Given the description of an element on the screen output the (x, y) to click on. 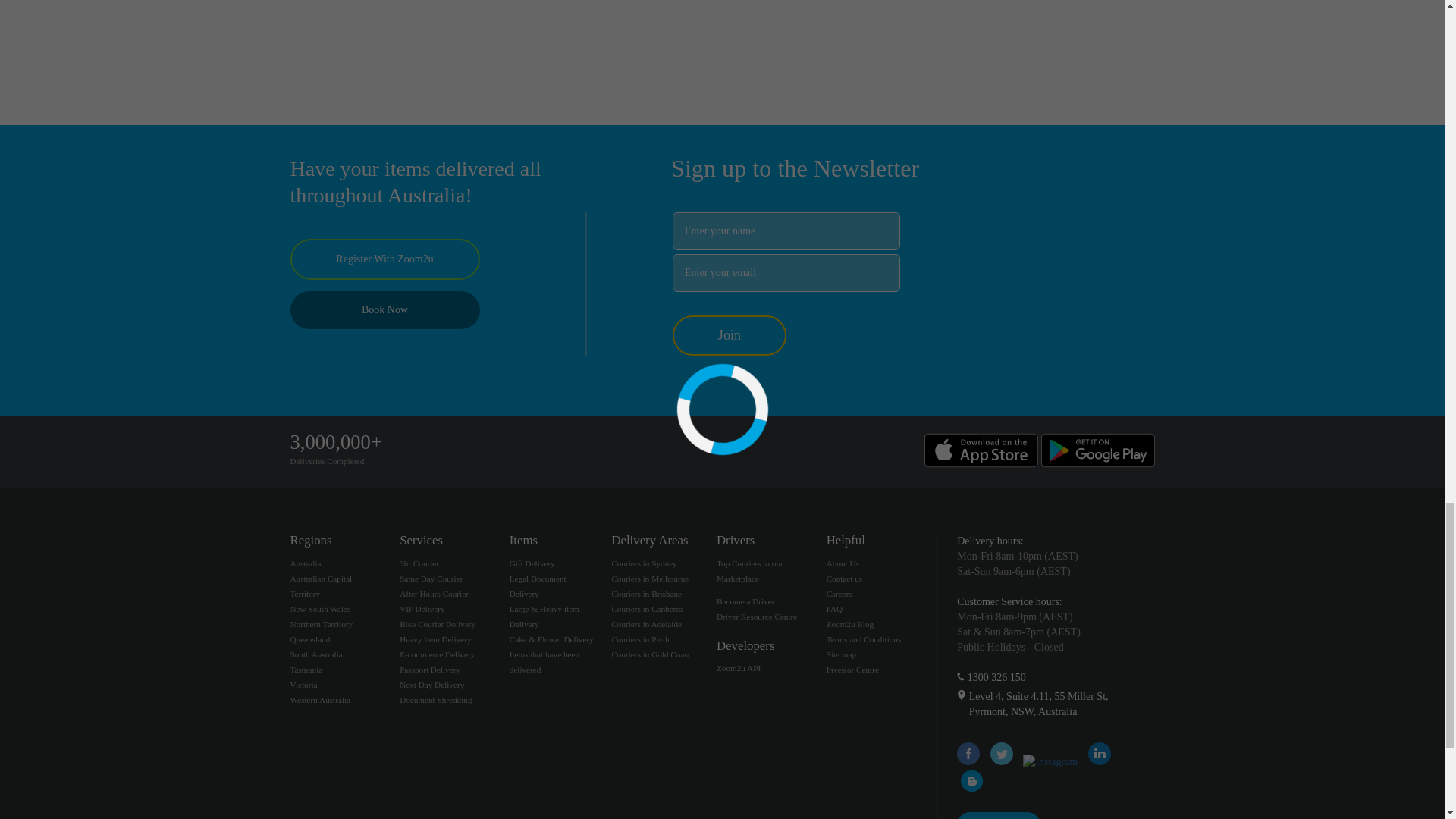
Join (729, 334)
